Given the description of an element on the screen output the (x, y) to click on. 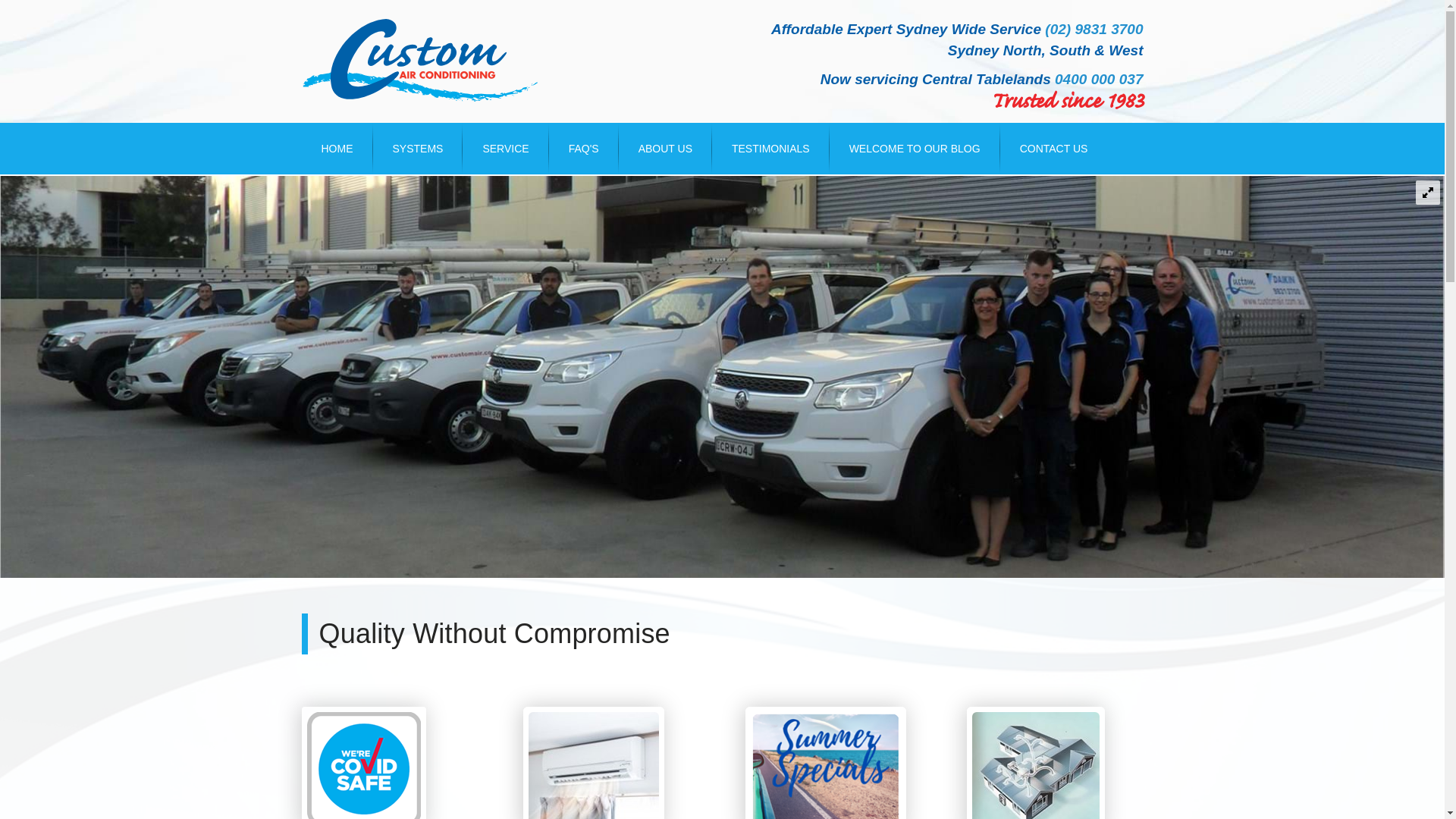
ABOUT US Element type: text (665, 148)
WELCOME TO OUR BLOG Element type: text (914, 148)
HOME Element type: text (337, 148)
0400 000 037 Element type: text (1098, 79)
TESTIMONIALS Element type: text (770, 148)
(02) 9831 3700 Element type: text (1093, 29)
SERVICE Element type: text (505, 148)
FAQ'S Element type: text (583, 148)
SYSTEMS Element type: text (418, 148)
CONTACT US Element type: text (1053, 148)
